Given the description of an element on the screen output the (x, y) to click on. 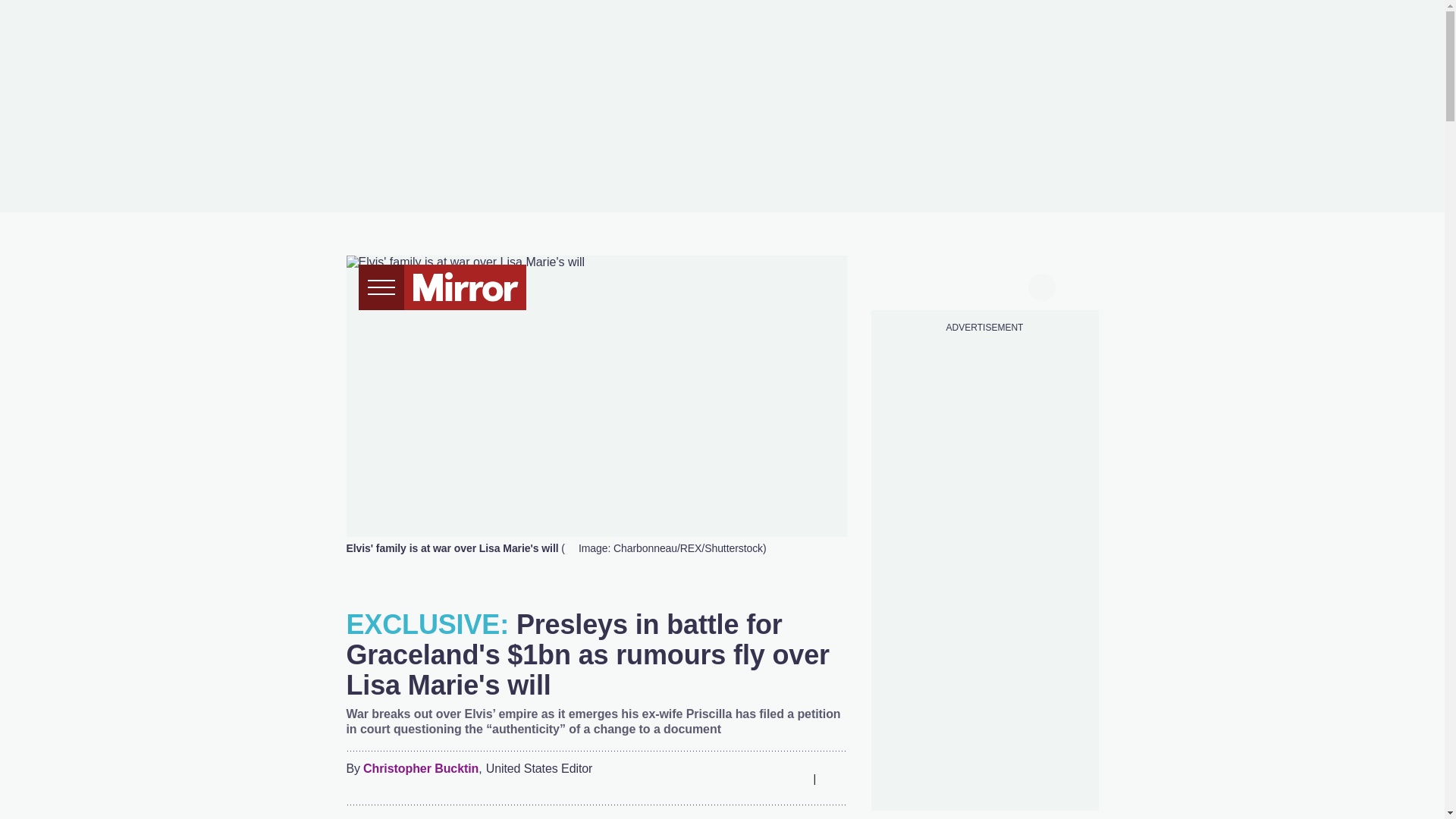
twitter (926, 285)
Whatsapp (763, 778)
Christopher Bucktin (420, 769)
Twitter (733, 778)
tiktok (955, 285)
Facebook (702, 778)
facebook (897, 285)
instagram (984, 285)
Comments (834, 778)
snapchat (1012, 285)
